Given the description of an element on the screen output the (x, y) to click on. 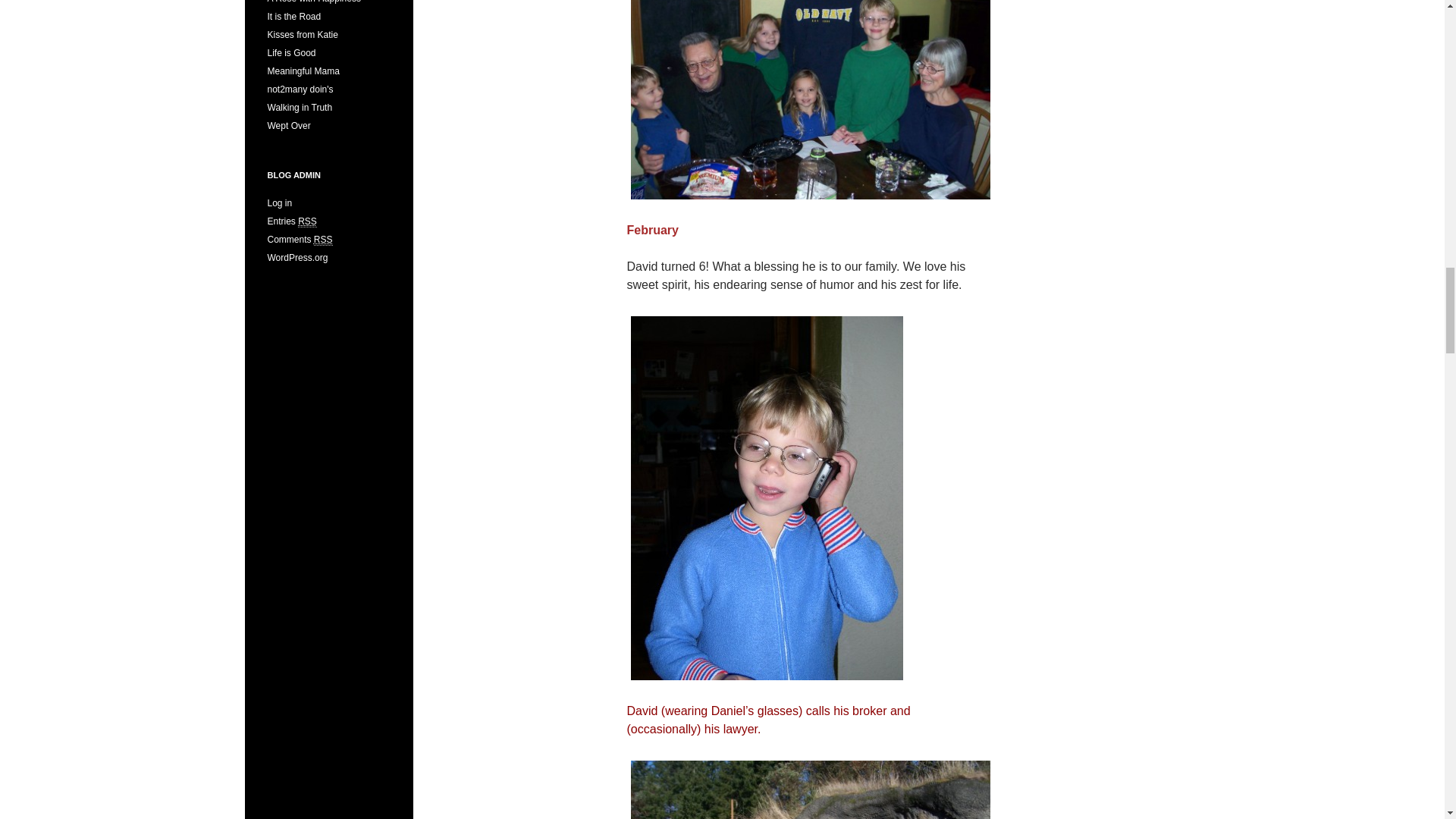
time to go to the zoo (809, 787)
shall we gather at the table (809, 101)
